Given the description of an element on the screen output the (x, y) to click on. 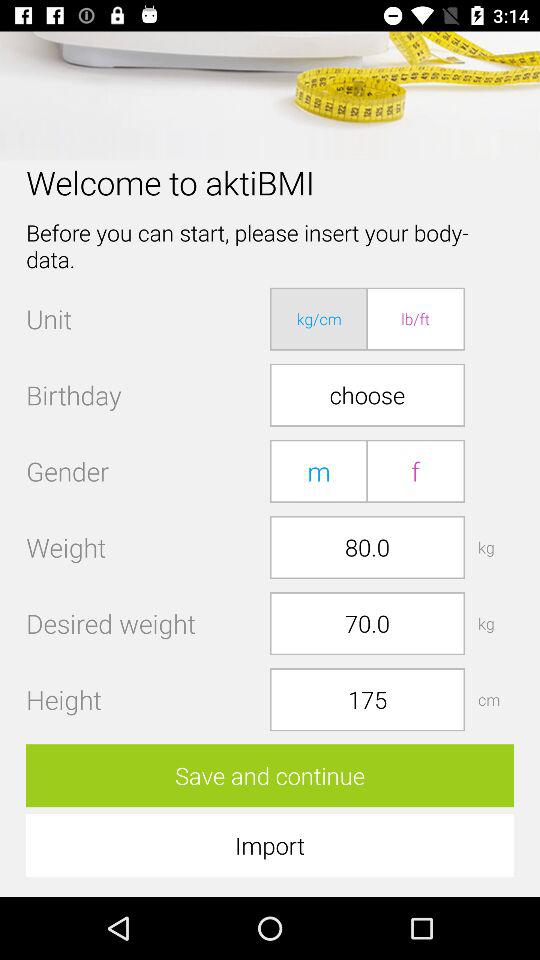
press app to the right of the unit item (319, 318)
